Given the description of an element on the screen output the (x, y) to click on. 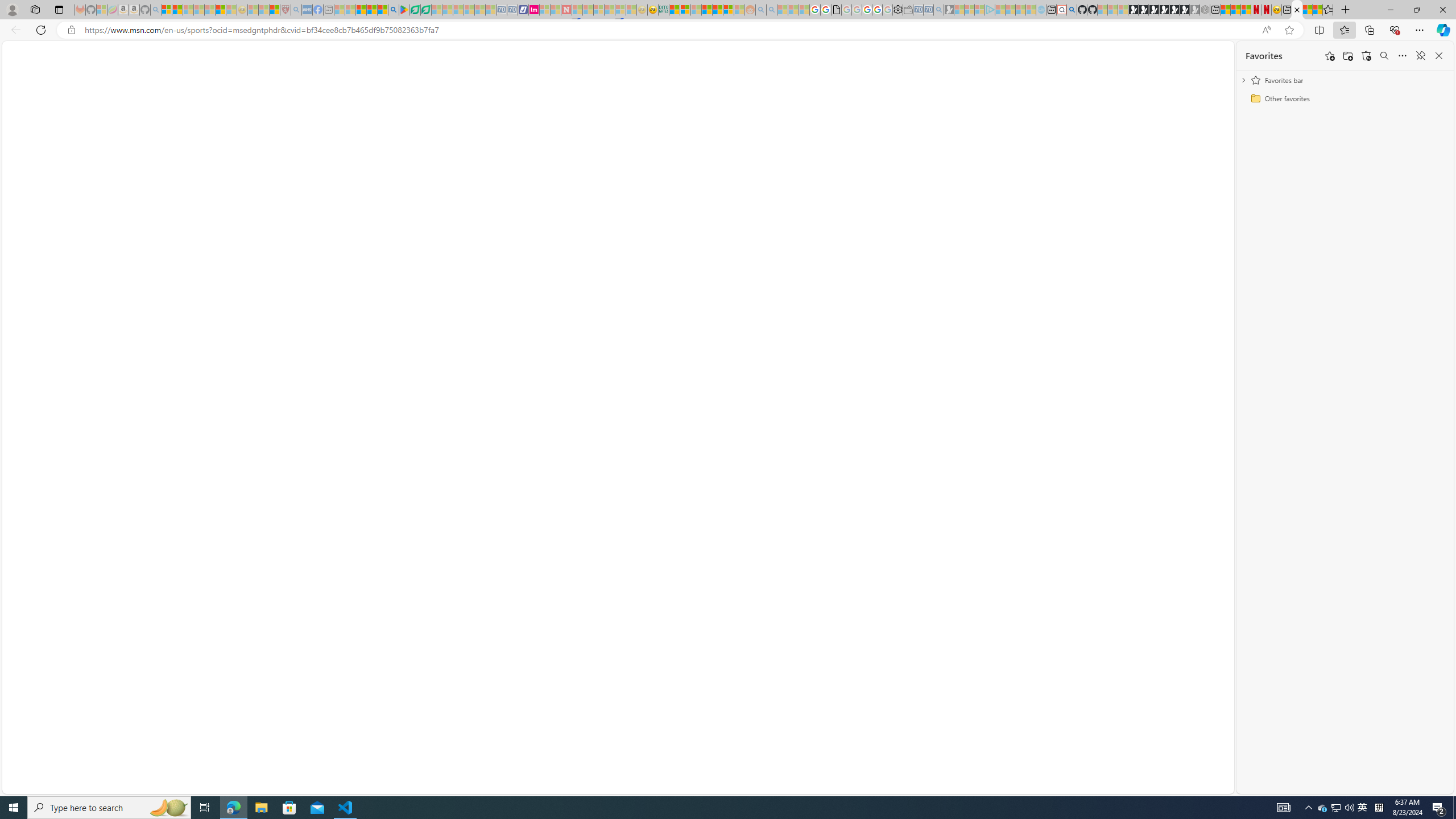
Unpin favorites (1420, 55)
Wallet - Sleeping (907, 9)
